Given the description of an element on the screen output the (x, y) to click on. 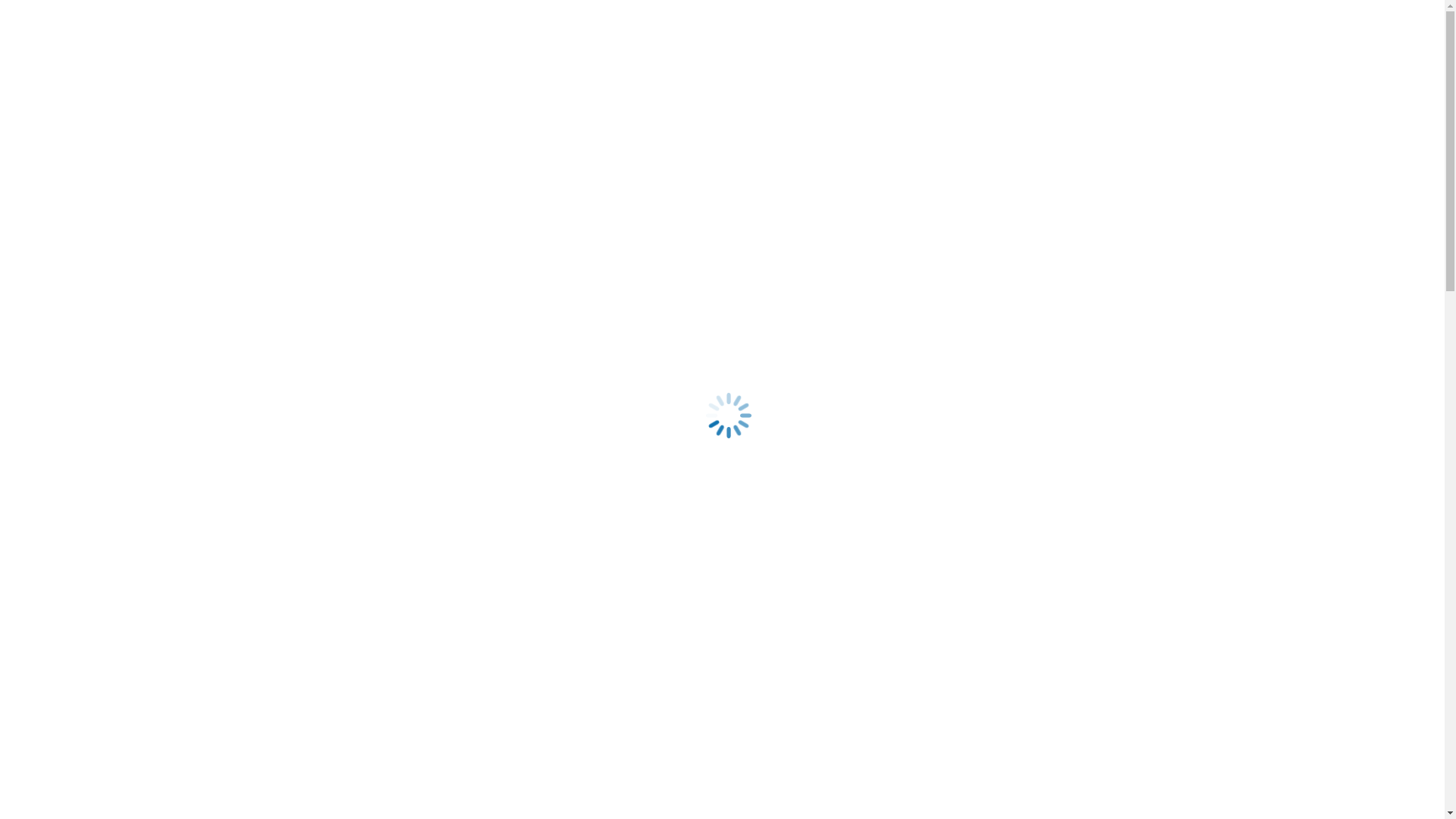
Commercial Element type: text (89, 194)
Search form Element type: hover (73, 70)
DES PLAINES Weather Element type: text (65, 803)
Gallery Element type: text (77, 222)
Contact Us Element type: text (86, 235)
Skip to content Element type: text (722, 12)
Services Element type: text (79, 167)
YouTube page opens in new window Element type: text (696, 262)
Home Element type: text (50, 362)
Go! Element type: text (20, 86)
Residential Element type: text (86, 181)
Testimonials Element type: text (90, 208)
Twitter page opens in new window Element type: text (313, 262)
Facebook page opens in new window Element type: text (125, 262)
Home Element type: text (73, 153)
CALL US FOR A FREE QUOTE Element type: text (191, 128)
Instagram page opens in new window Element type: text (503, 262)
